Given the description of an element on the screen output the (x, y) to click on. 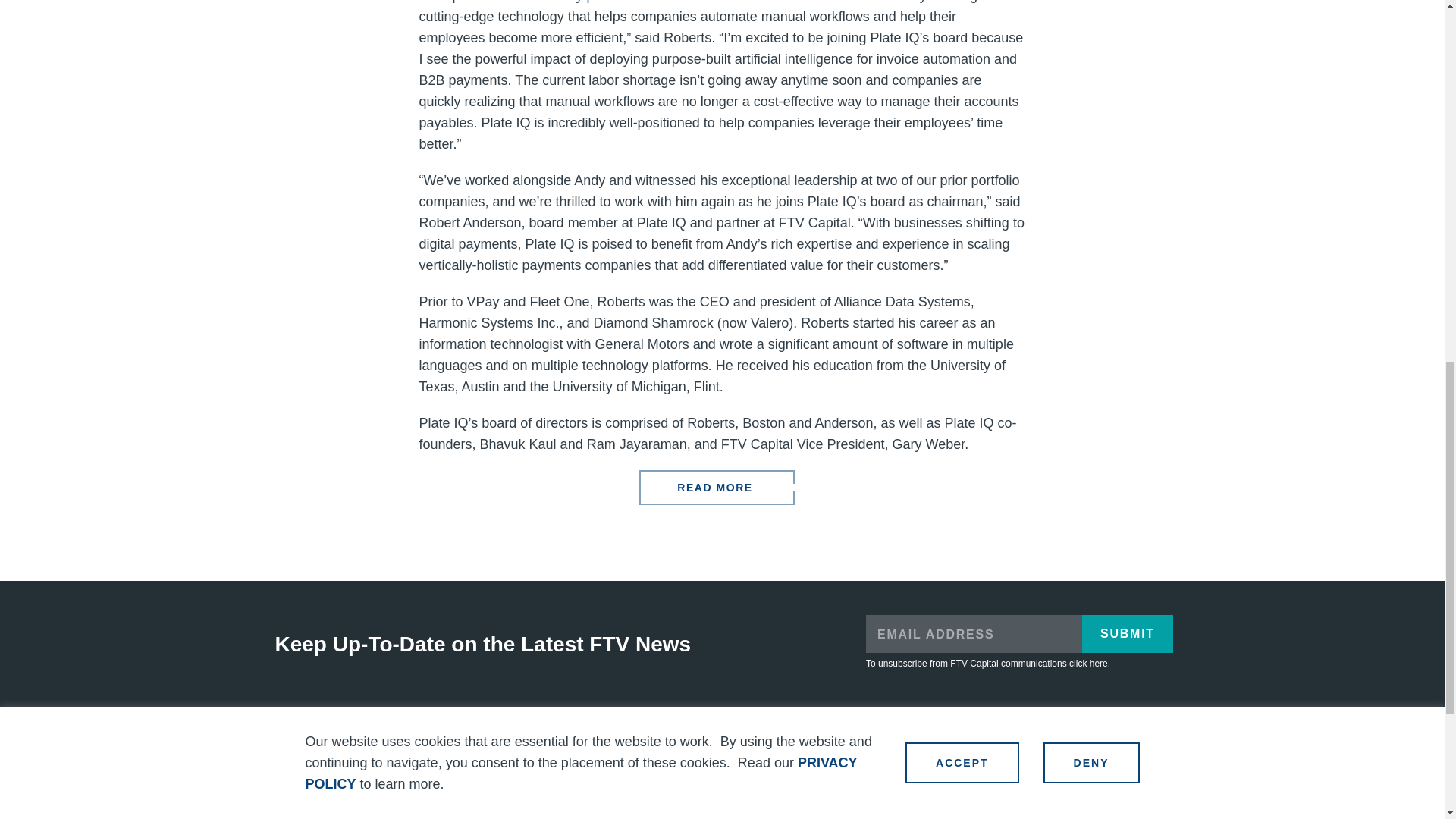
To unsubscribe from FTV Capital communications click here. (987, 663)
READ MORE (716, 487)
SUBMIT (1127, 633)
INVESTOR PORTAL (1075, 760)
CONTACT (816, 753)
